Given the description of an element on the screen output the (x, y) to click on. 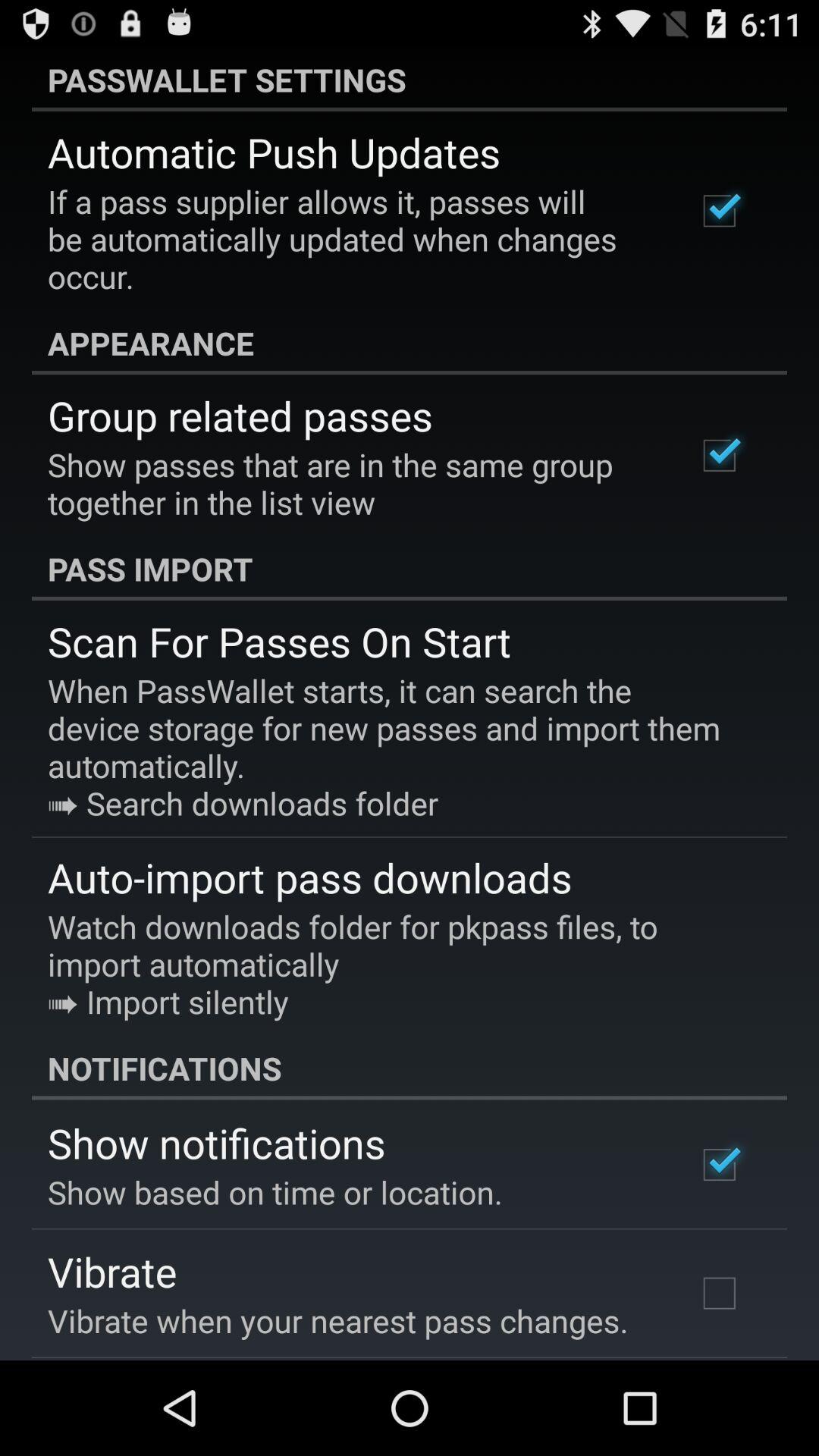
select item above the appearance (351, 238)
